Given the description of an element on the screen output the (x, y) to click on. 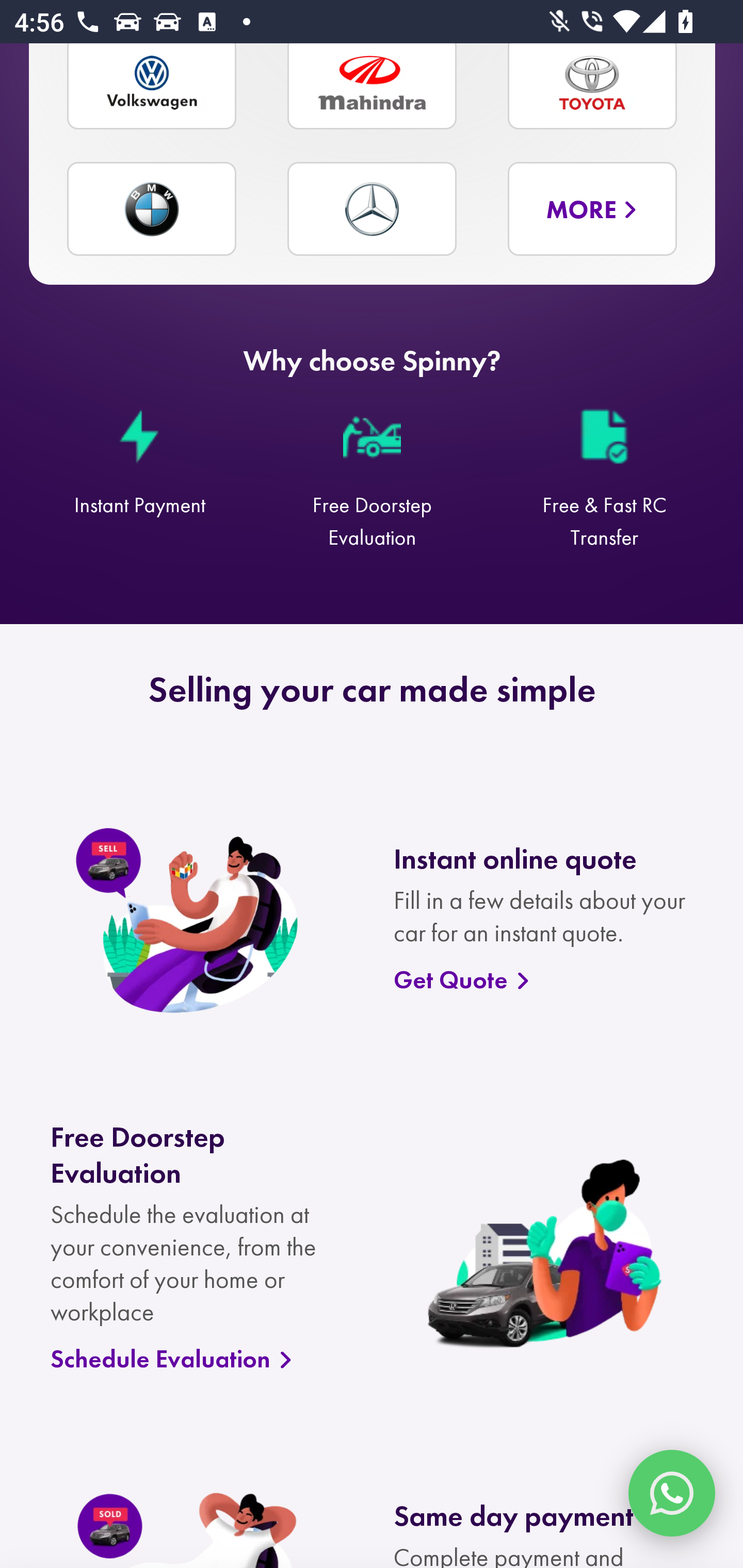
Get Quote (543, 981)
Schedule Evaluation (201, 1359)
